Given the description of an element on the screen output the (x, y) to click on. 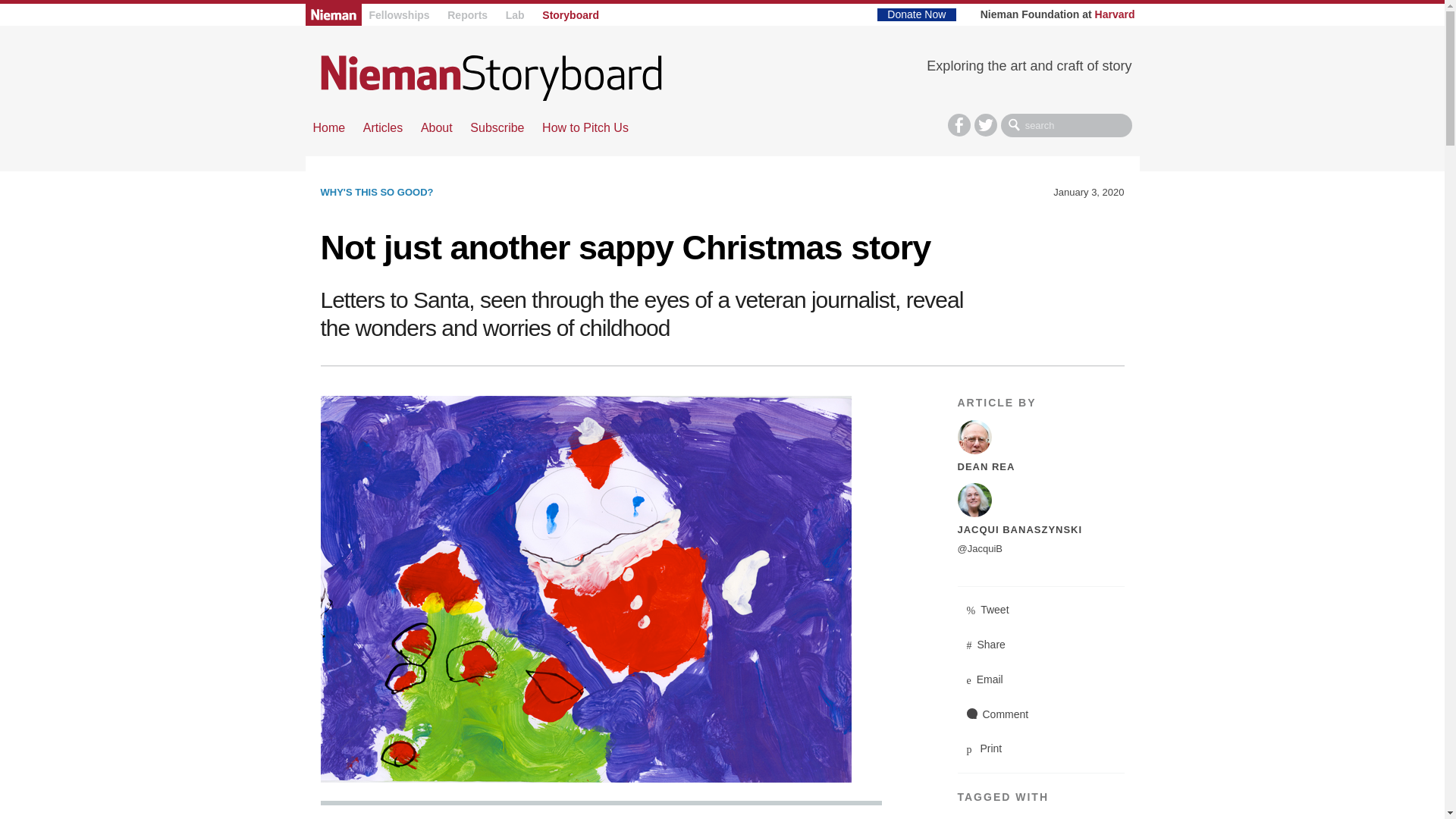
JACQUI BANASZYNSKI (1018, 529)
F (959, 124)
Fellowships (398, 15)
DEAN REA (985, 466)
T (985, 124)
Subscribe (497, 127)
Harvard (1114, 14)
WHY'S THIS SO GOOD? (376, 192)
Share (1040, 645)
Articles (382, 127)
Lab (514, 15)
Jacqui Banaszynski (1040, 499)
Dean Rea (1040, 437)
Donate Now (915, 14)
About (436, 127)
